Given the description of an element on the screen output the (x, y) to click on. 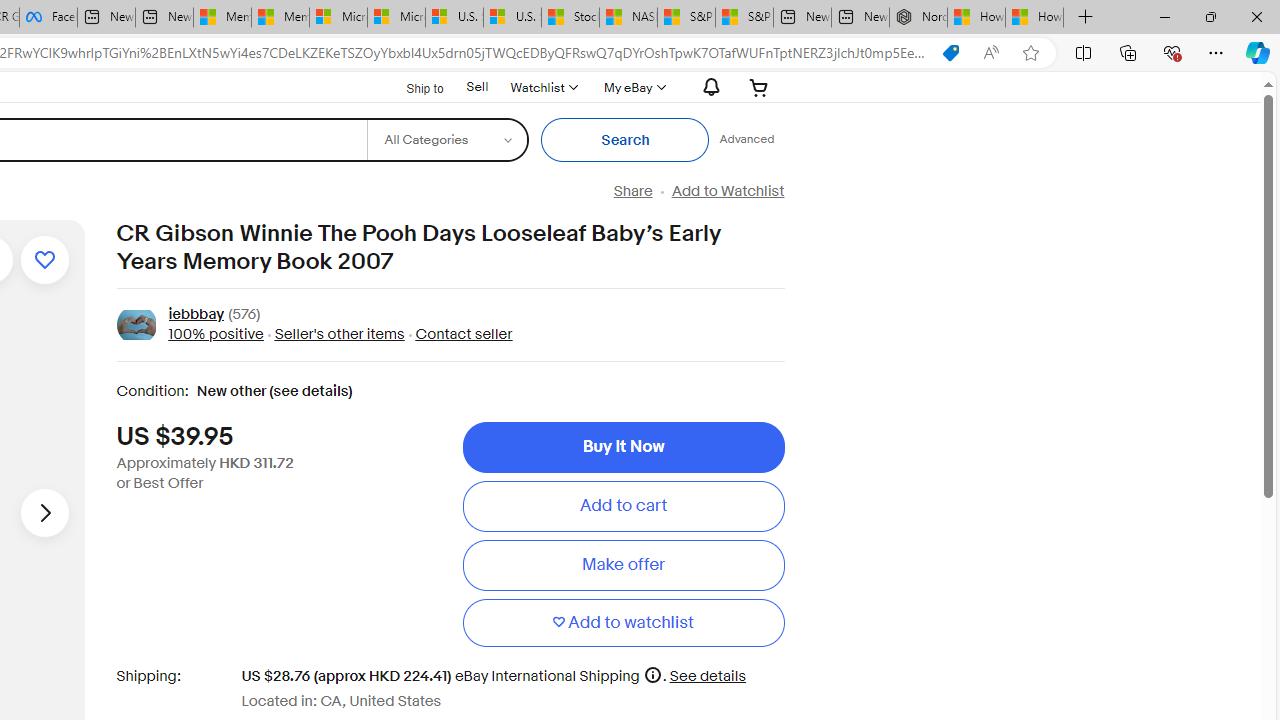
Add to watchlist (623, 622)
How to Use a Monitor With Your Closed Laptop (1034, 17)
  Contact seller (458, 334)
Buy It Now (623, 447)
Class: ux-action (136, 325)
Facebook (48, 17)
AutomationID: gh-eb-Alerts (708, 87)
Buy It Now (623, 447)
iebbbay (196, 315)
(576) (244, 315)
